Given the description of an element on the screen output the (x, y) to click on. 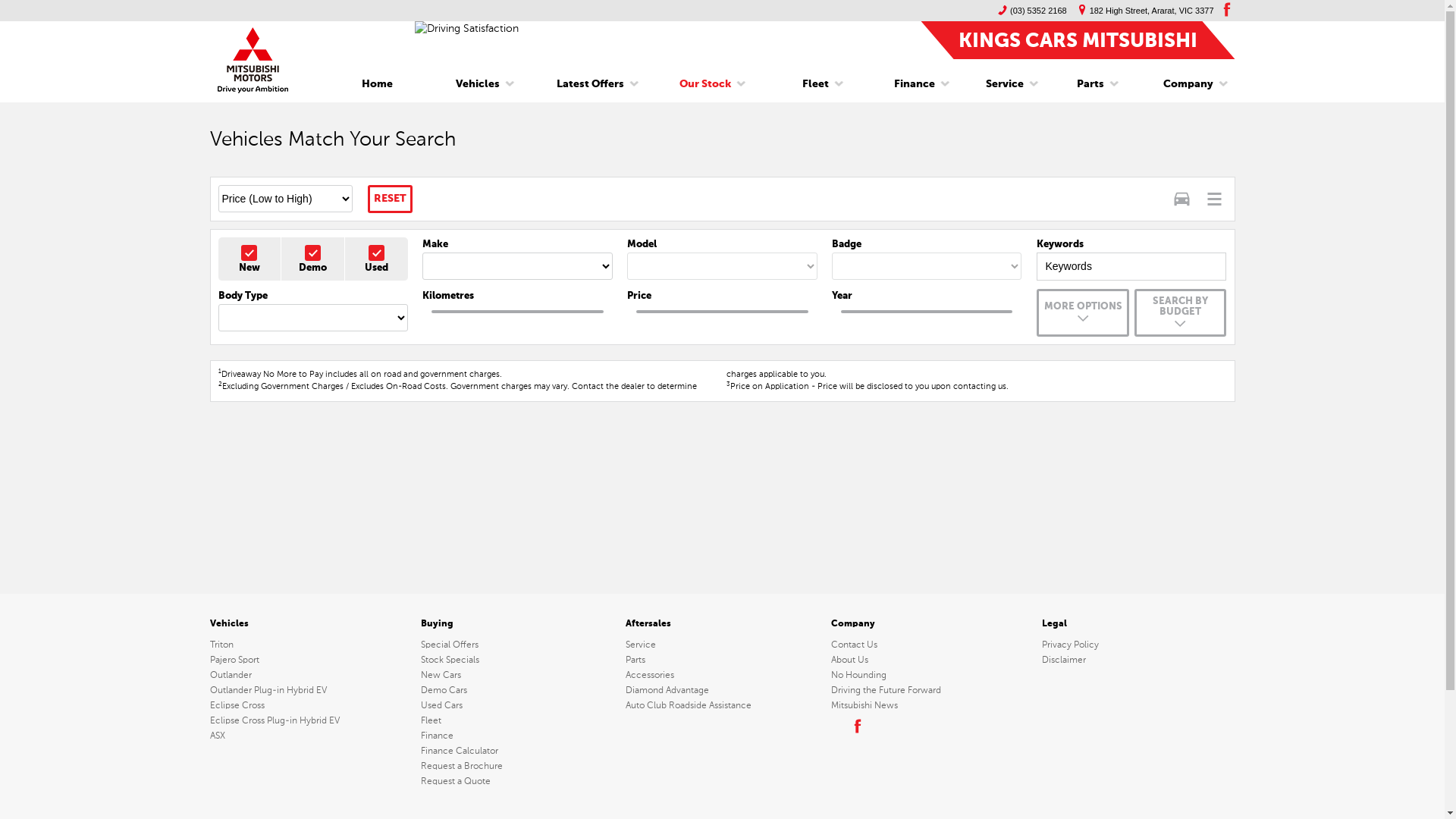
ASX Element type: text (311, 735)
SEARCH BY BUDGET Element type: text (1180, 312)
Mitsubishi News Element type: text (927, 704)
MORE OPTIONS Element type: text (1082, 312)
Driving the Future Forward Element type: text (927, 689)
facebook Element type: text (856, 725)
Home Element type: text (377, 83)
182 High Street, Ararat, VIC 3377 Element type: text (1142, 10)
facebook Element type: text (1224, 9)
Fleet Element type: text (516, 720)
Fleet Element type: text (815, 83)
Outlander Plug-in Hybrid EV Element type: text (311, 689)
New Cars Element type: text (516, 674)
No Hounding Element type: text (927, 674)
RESET Element type: text (389, 199)
Stock Specials Element type: text (516, 659)
Outlander Element type: text (311, 674)
Finance Calculator Element type: text (516, 750)
Parts Element type: text (1090, 83)
Our Stock Element type: text (705, 83)
Accessories Element type: text (721, 674)
Request a Quote Element type: text (516, 780)
Eclipse Cross Plug-in Hybrid EV Element type: text (311, 720)
Service Element type: text (721, 644)
Eclipse Cross Element type: text (311, 704)
KINGS CARS MITSUBISHI Element type: text (1077, 40)
Finance Element type: text (516, 735)
Request a Brochure Element type: text (516, 765)
Triton Element type: text (311, 644)
Pajero Sport Element type: text (311, 659)
Contact Us Element type: text (927, 644)
Demo Cars Element type: text (516, 689)
Latest Offers Element type: text (590, 83)
Service Element type: text (1004, 83)
Diamond Advantage Element type: text (721, 689)
Company Element type: text (1182, 83)
Finance Element type: text (914, 83)
Parts Element type: text (721, 659)
About Us Element type: text (927, 659)
Used Cars Element type: text (516, 704)
Disclaimer Element type: text (1137, 659)
Special Offers Element type: text (516, 644)
Auto Club Roadside Assistance Element type: text (721, 704)
Privacy Policy Element type: text (1137, 644)
Vehicles Element type: text (477, 83)
